Given the description of an element on the screen output the (x, y) to click on. 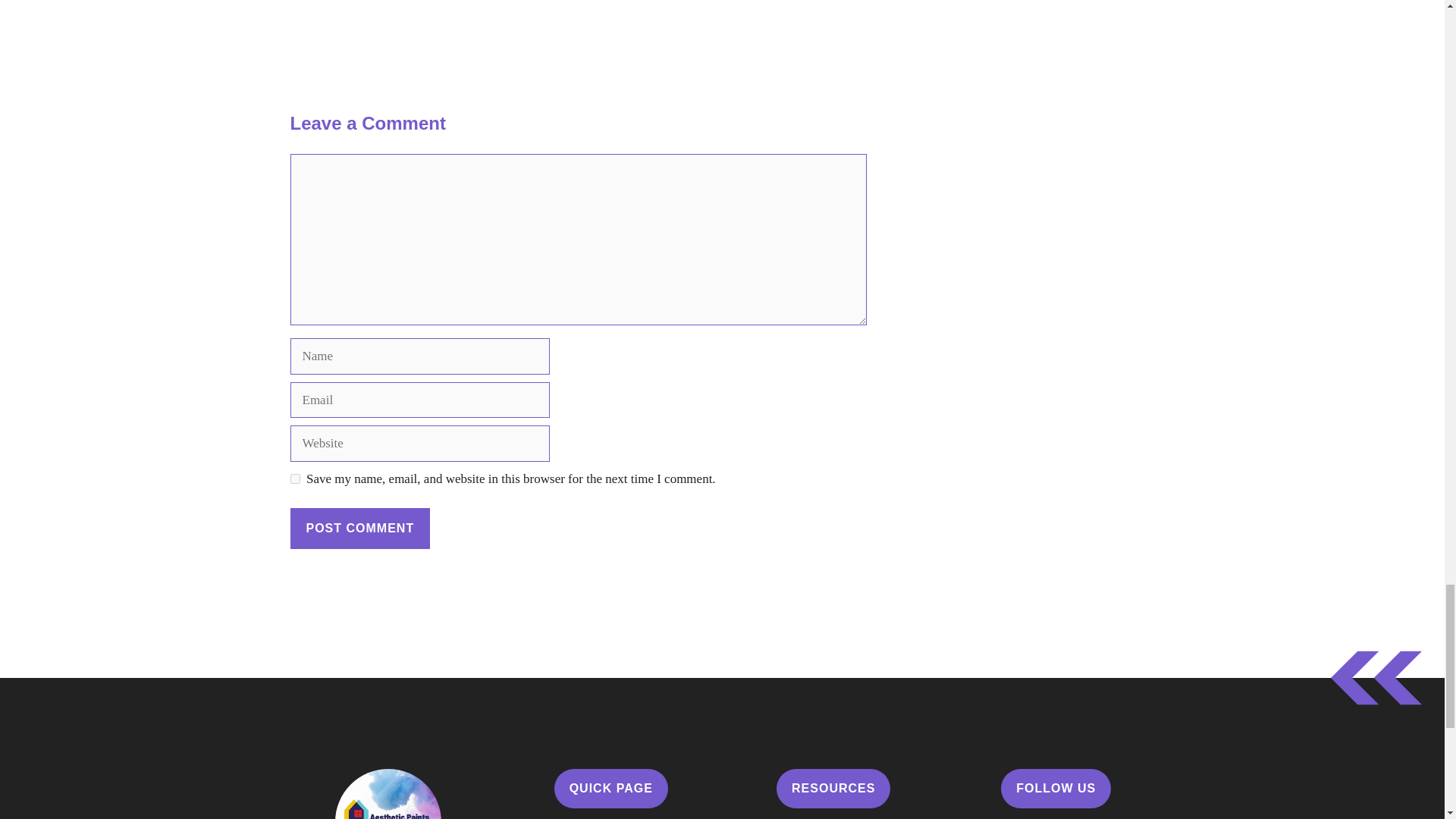
yes (294, 479)
Post Comment (359, 527)
Post Comment (359, 527)
